Given the description of an element on the screen output the (x, y) to click on. 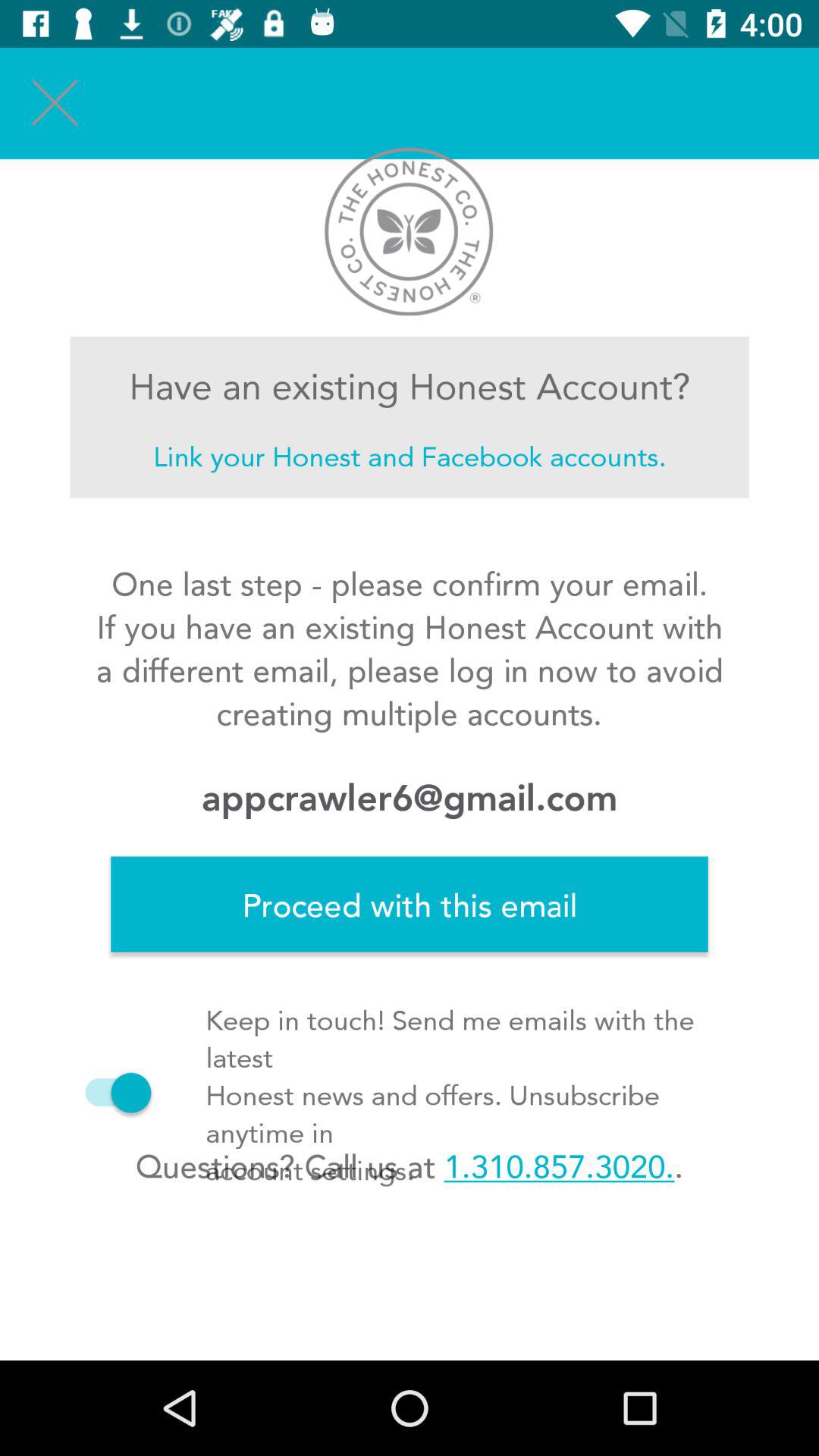
select the icon below the proceed with this (409, 1165)
